Given the description of an element on the screen output the (x, y) to click on. 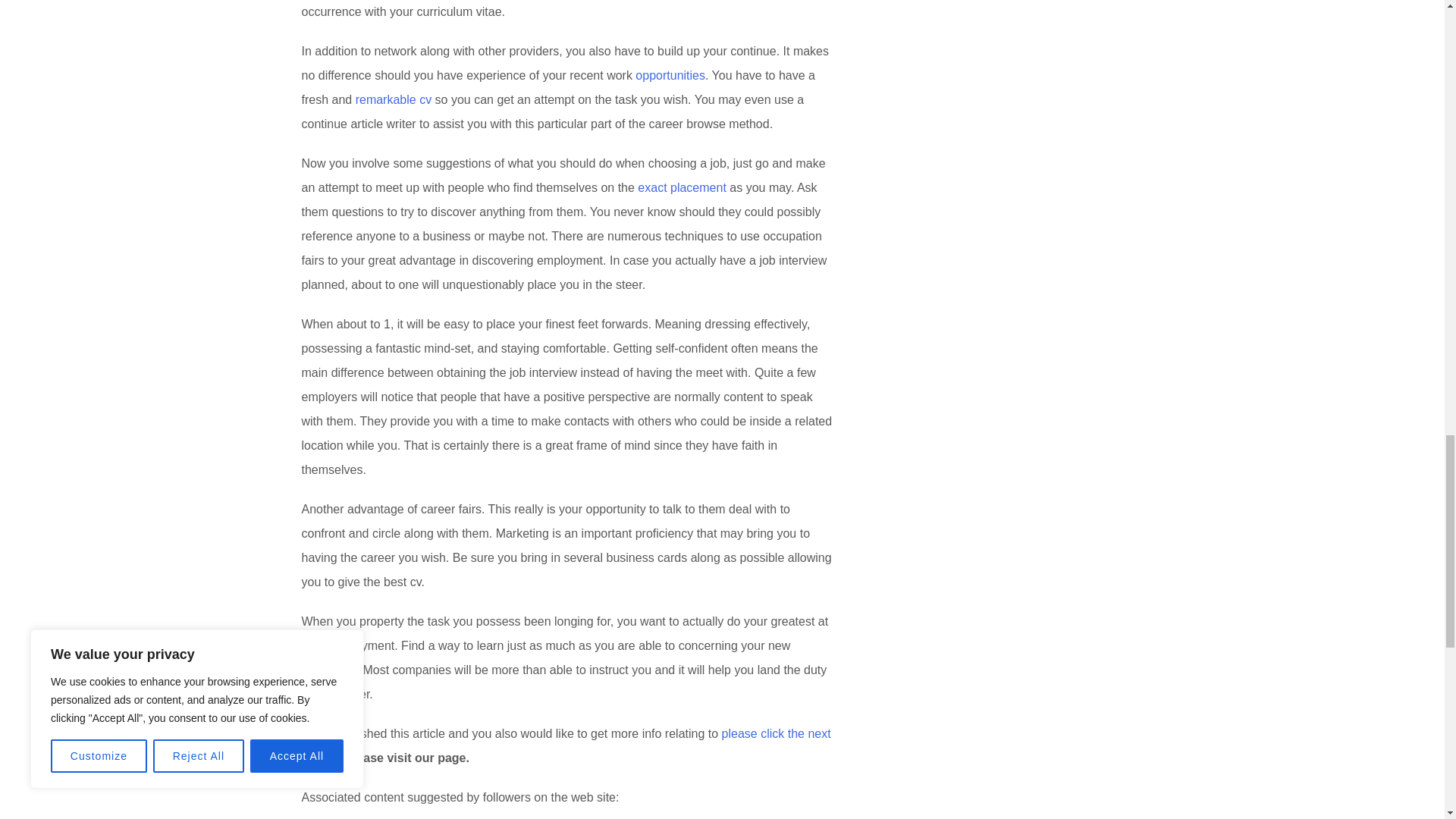
exact placement (681, 187)
please click the next website (566, 745)
remarkable cv (392, 99)
opportunities (669, 74)
